Given the description of an element on the screen output the (x, y) to click on. 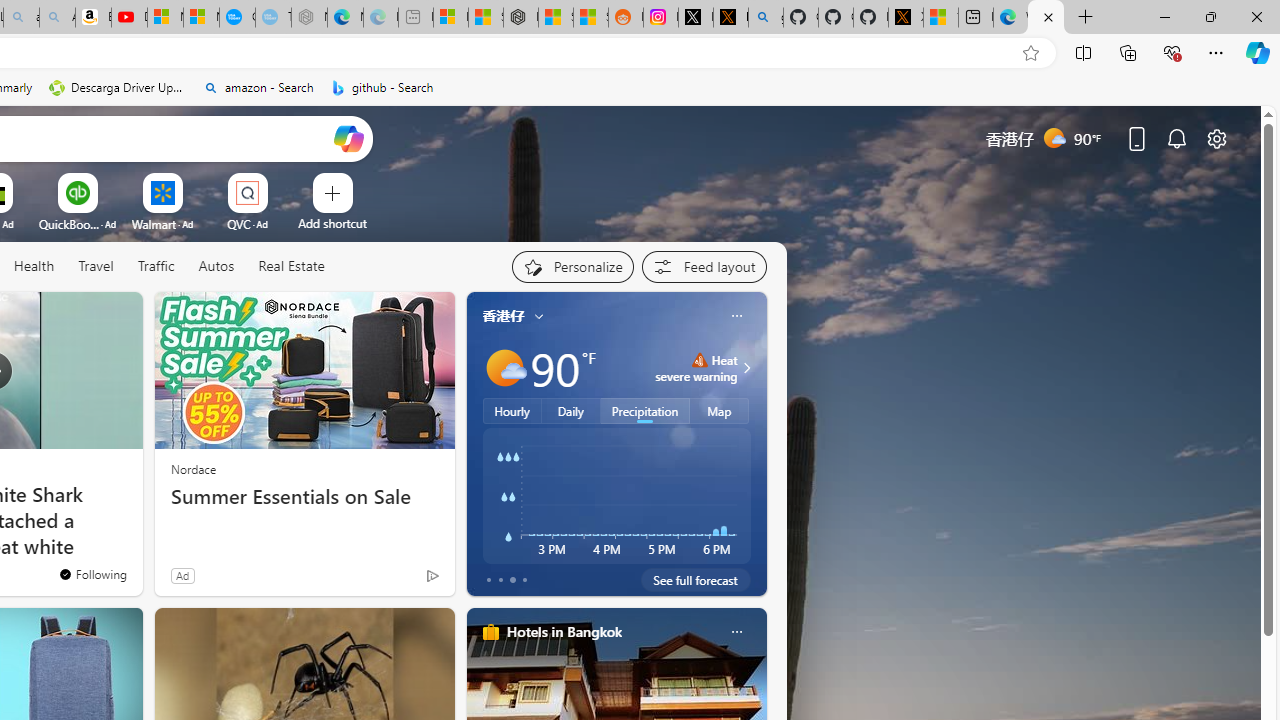
tab-2 (511, 579)
The most popular Google 'how to' searches - Sleeping (273, 17)
Mostly sunny (504, 368)
Hourly (511, 411)
Nordace - Nordace has arrived Hong Kong - Sleeping (308, 17)
Heat - Severe Heat severe warning (696, 367)
You're following FOX News (92, 573)
Precipitation (645, 411)
